Given the description of an element on the screen output the (x, y) to click on. 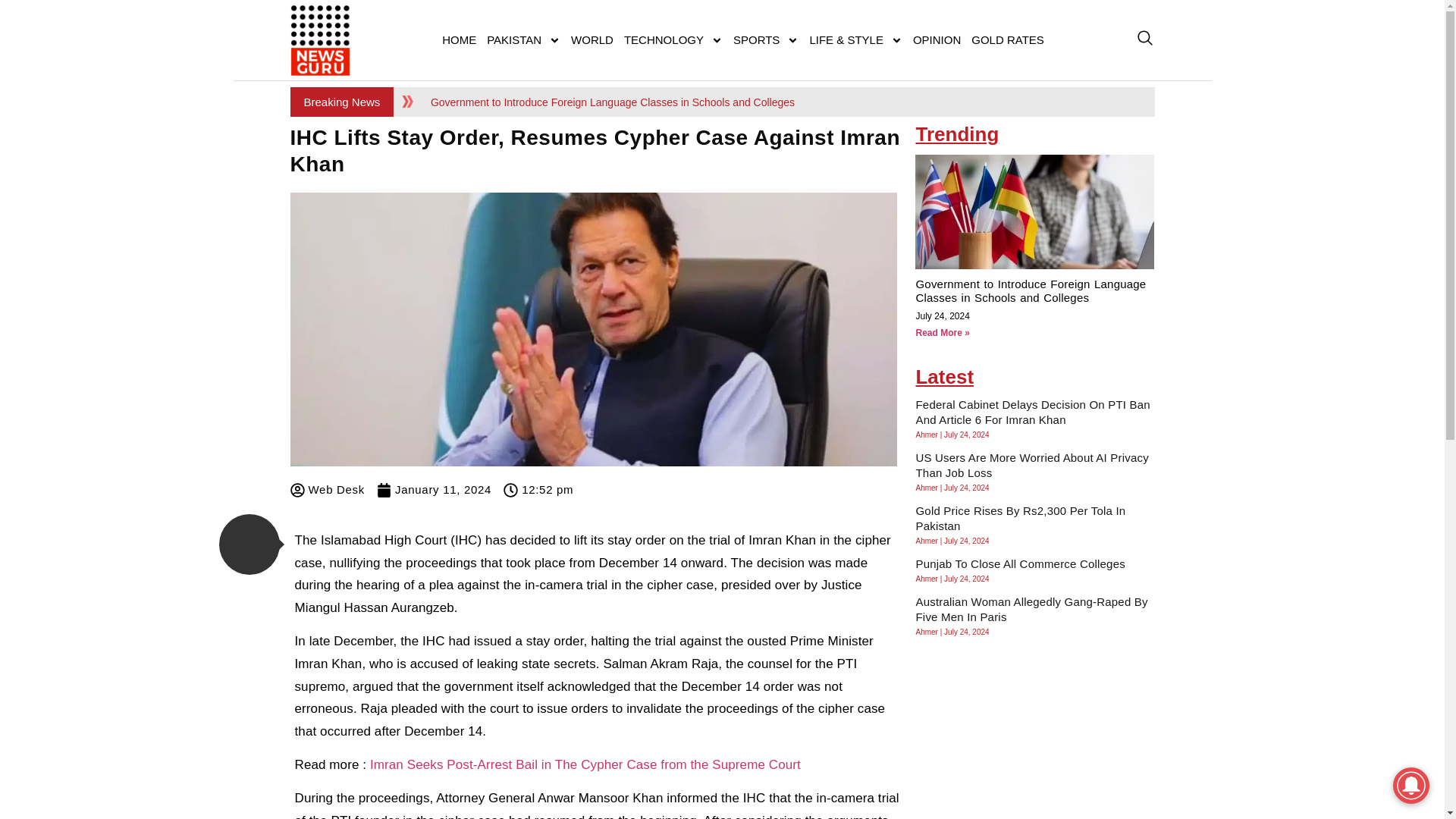
Read Content (248, 544)
OPINION (936, 39)
SPORTS (765, 39)
PAKISTAN (523, 39)
GOLD RATES (1007, 39)
HOME (458, 39)
TECHNOLOGY (673, 39)
WORLD (592, 39)
